Given the description of an element on the screen output the (x, y) to click on. 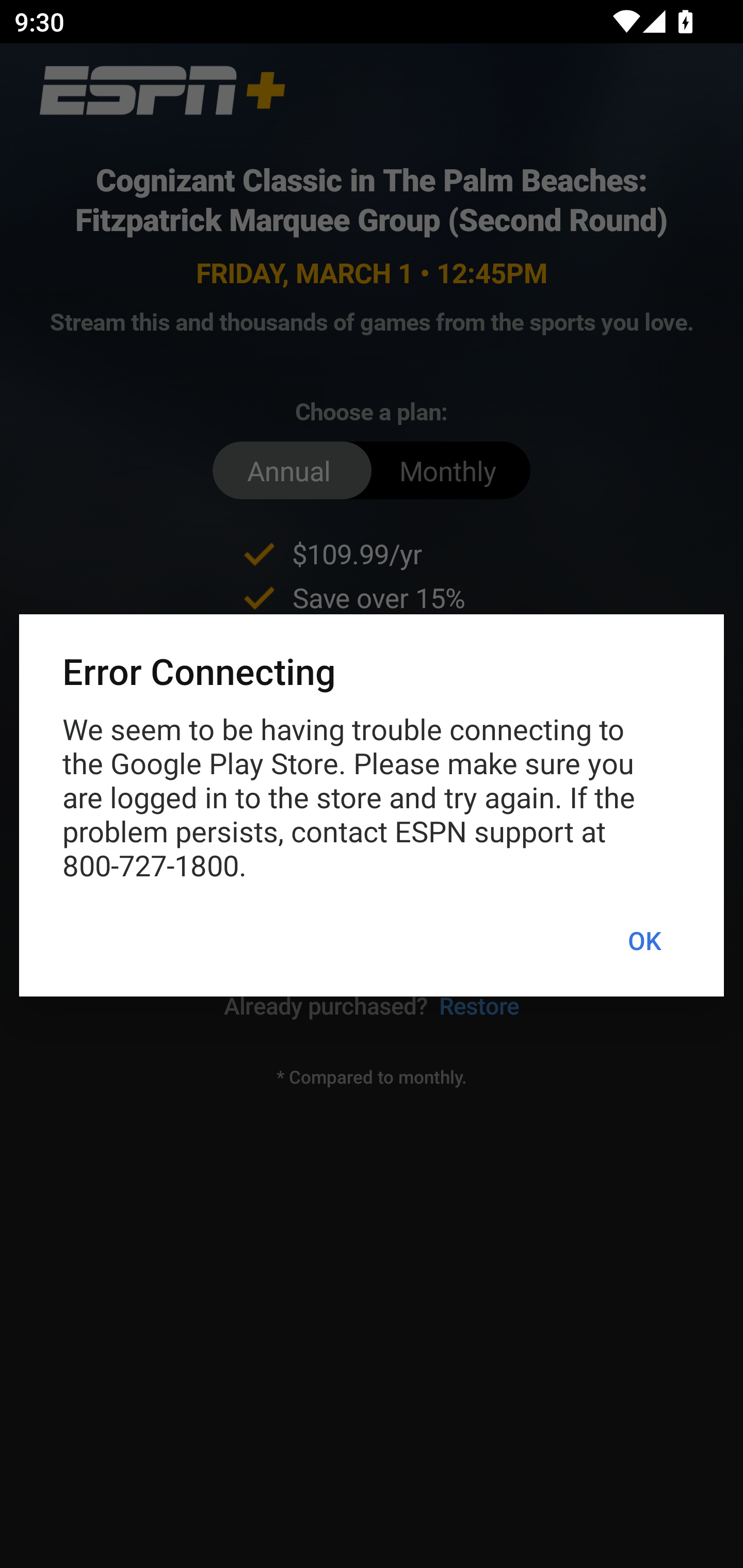
OK (644, 940)
